Given the description of an element on the screen output the (x, y) to click on. 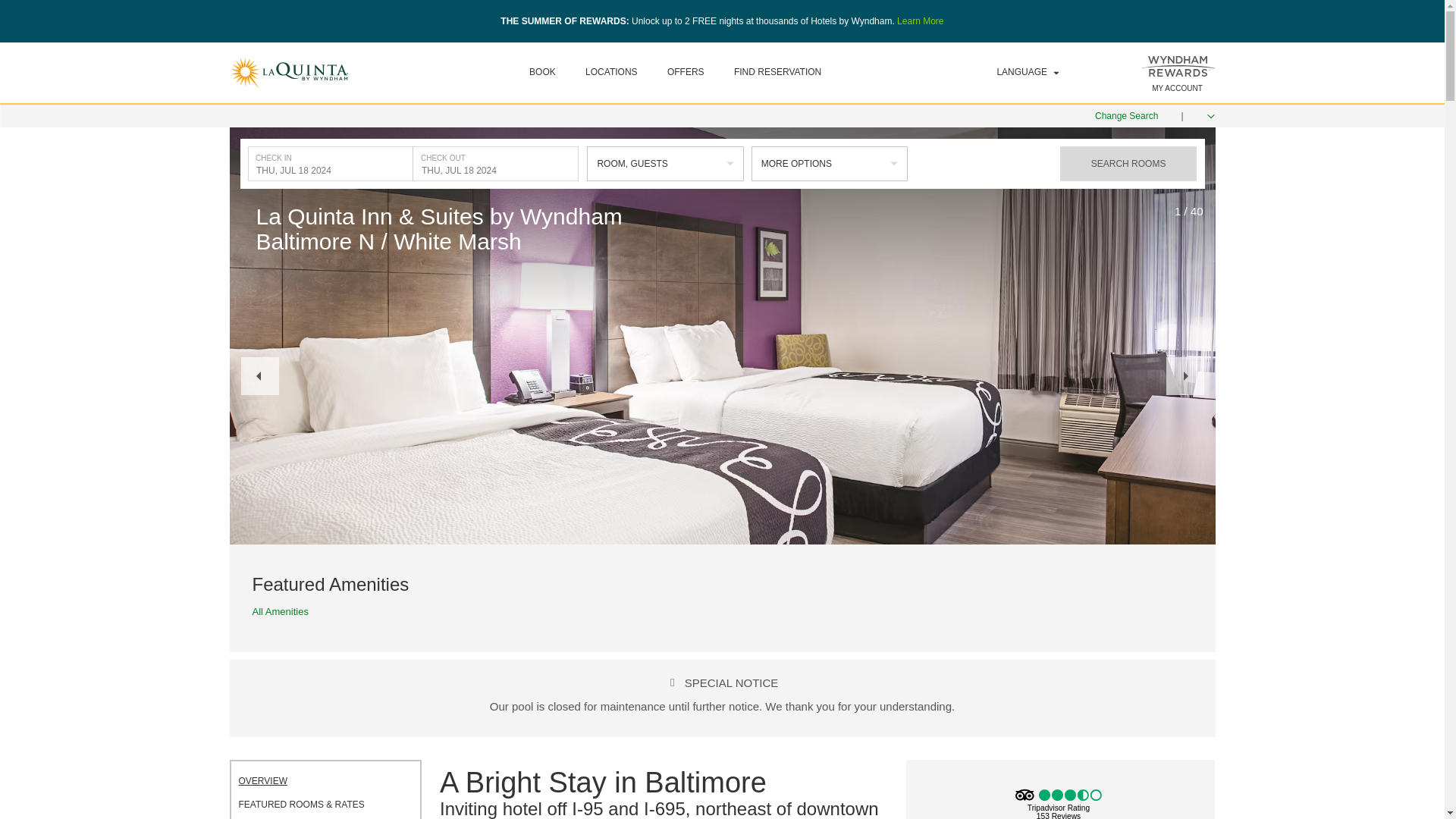
FIND RESERVATION (777, 71)
Learn More (919, 20)
LOCATIONS (611, 71)
BOOK (542, 71)
LANGUAGE (1028, 72)
OFFERS (685, 71)
MY ACCOUNT (1176, 88)
